Given the description of an element on the screen output the (x, y) to click on. 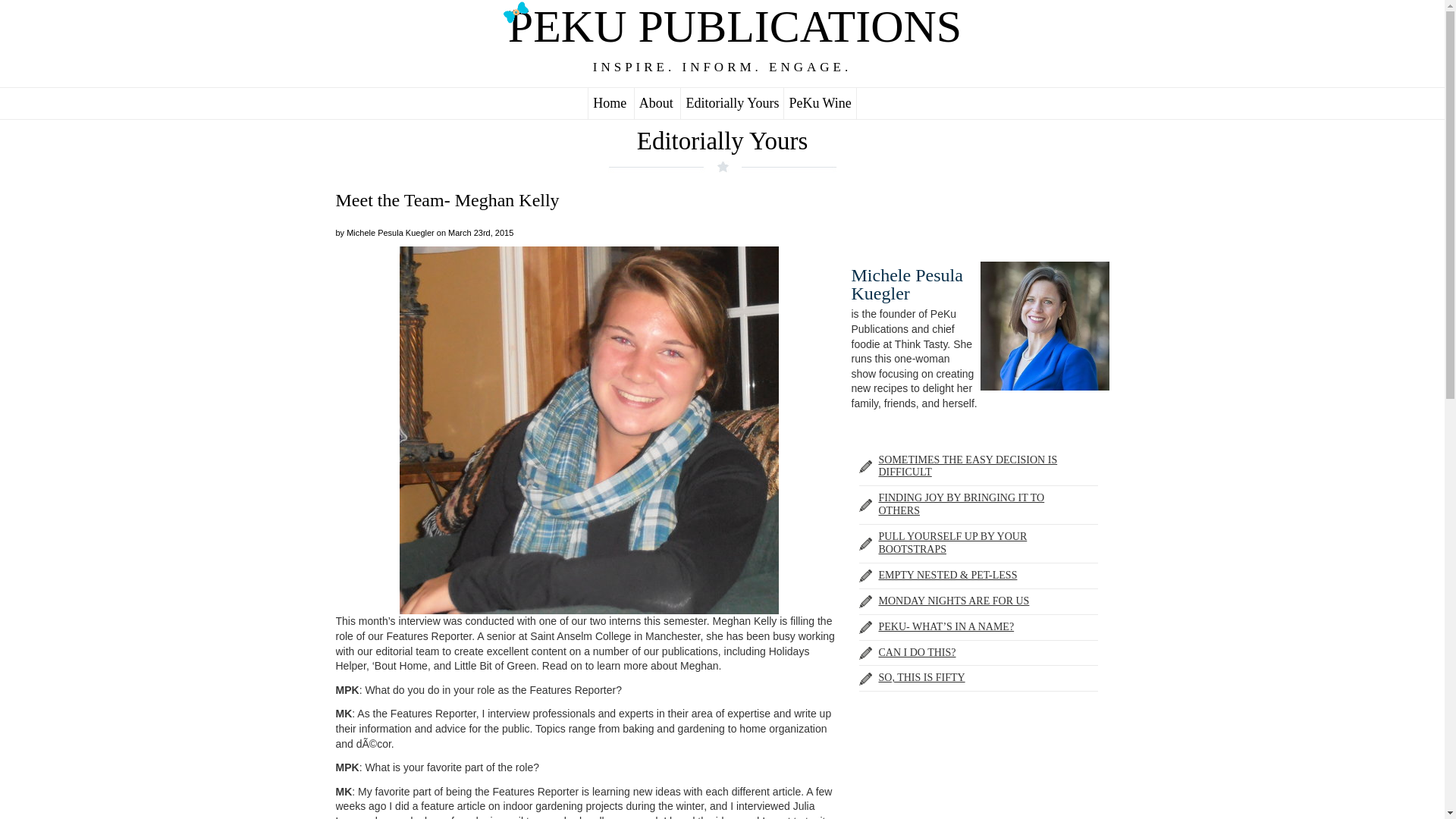
PULL YOURSELF UP BY YOUR BOOTSTRAPS (951, 542)
About (655, 102)
PEKU PUBLICATIONS (721, 30)
MONDAY NIGHTS ARE FOR US (953, 600)
Home (609, 102)
SOMETIMES THE EASY DECISION IS DIFFICULT (967, 466)
Editorially Yours (722, 140)
PeKu Wine (819, 102)
FINDING JOY BY BRINGING IT TO OTHERS (960, 504)
Editorially Yours (731, 102)
